Given the description of an element on the screen output the (x, y) to click on. 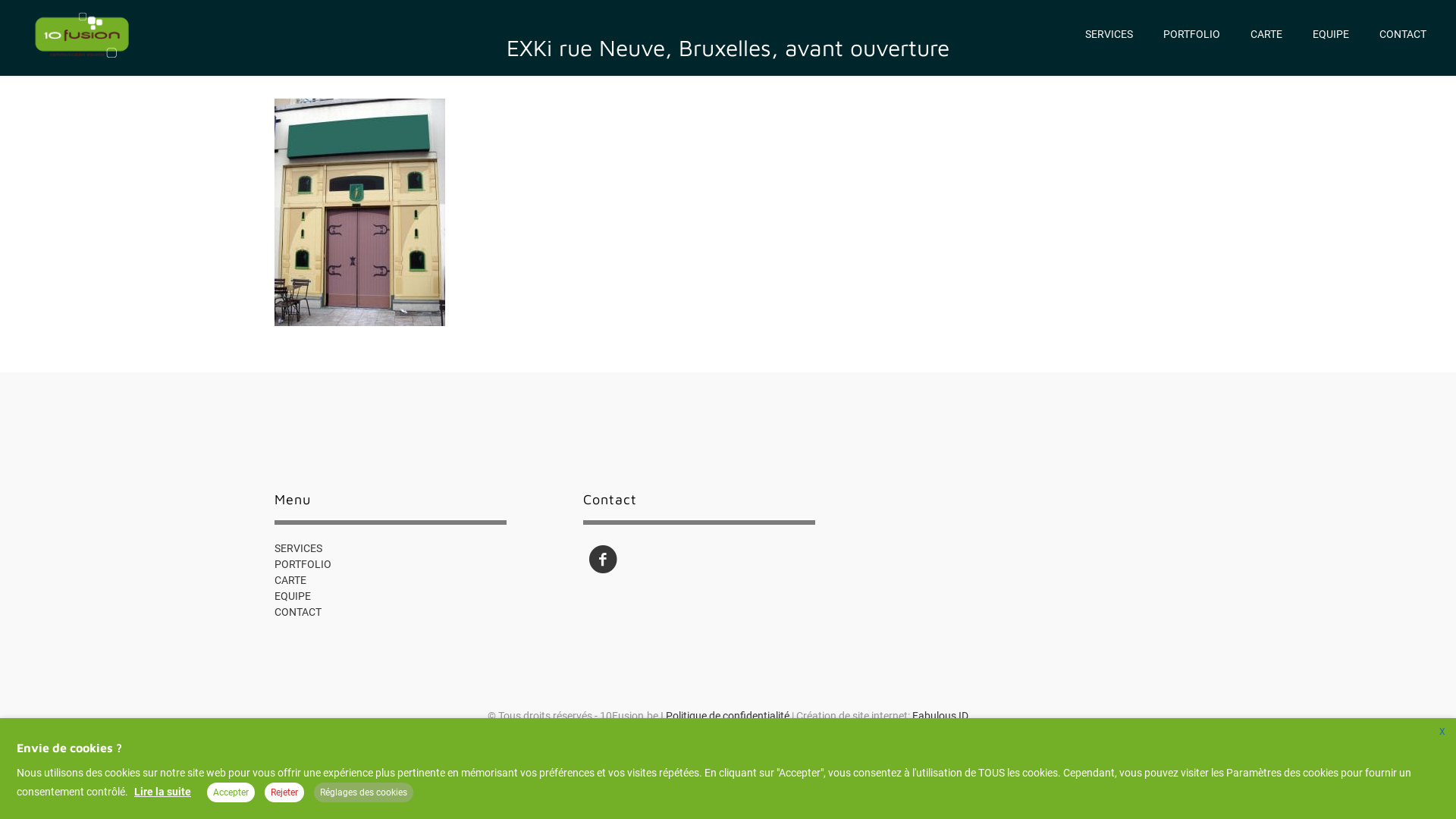
CONTACT Element type: text (1402, 34)
Fabulous ID Element type: text (940, 715)
Lire la suite Element type: text (163, 791)
CARTE Element type: text (1266, 34)
X Element type: text (1442, 731)
EXKi rue Neuve, Bruxelles, avant ouverture Element type: hover (699, 522)
PORTFOLIO Element type: text (302, 564)
Accepter Element type: text (230, 792)
PORTFOLIO Element type: text (1191, 34)
CONTACT Element type: text (297, 611)
CARTE Element type: text (290, 580)
SERVICES Element type: text (1109, 34)
EQUIPE Element type: text (1330, 34)
SERVICES Element type: text (298, 548)
EXKi rue Neuve, Bruxelles, avant ouverture Element type: hover (390, 522)
10Fusion Element type: hover (81, 34)
EQUIPE Element type: text (292, 595)
Rejeter Element type: text (284, 792)
